Given the description of an element on the screen output the (x, y) to click on. 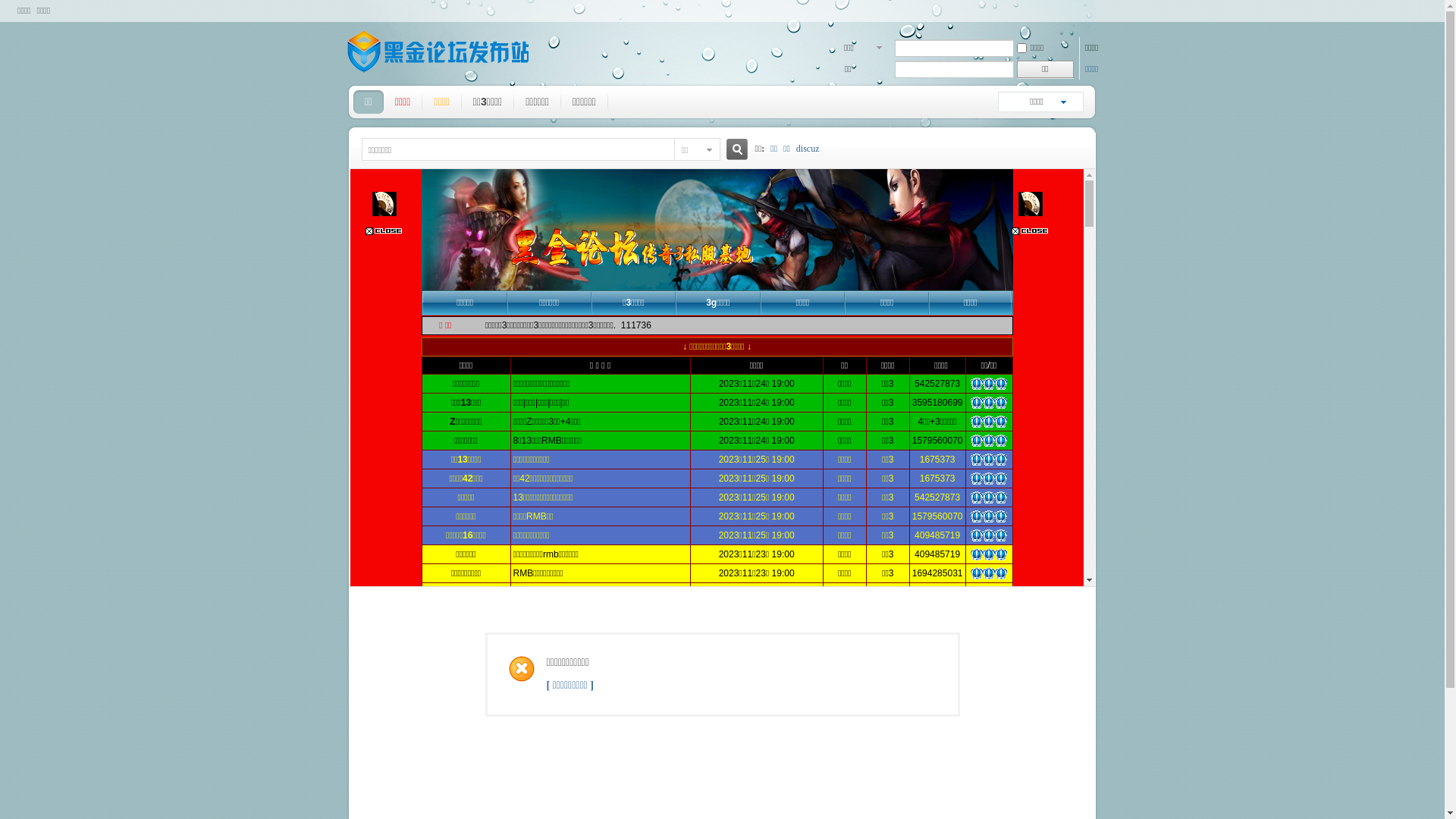
discuz Element type: text (807, 148)
